Given the description of an element on the screen output the (x, y) to click on. 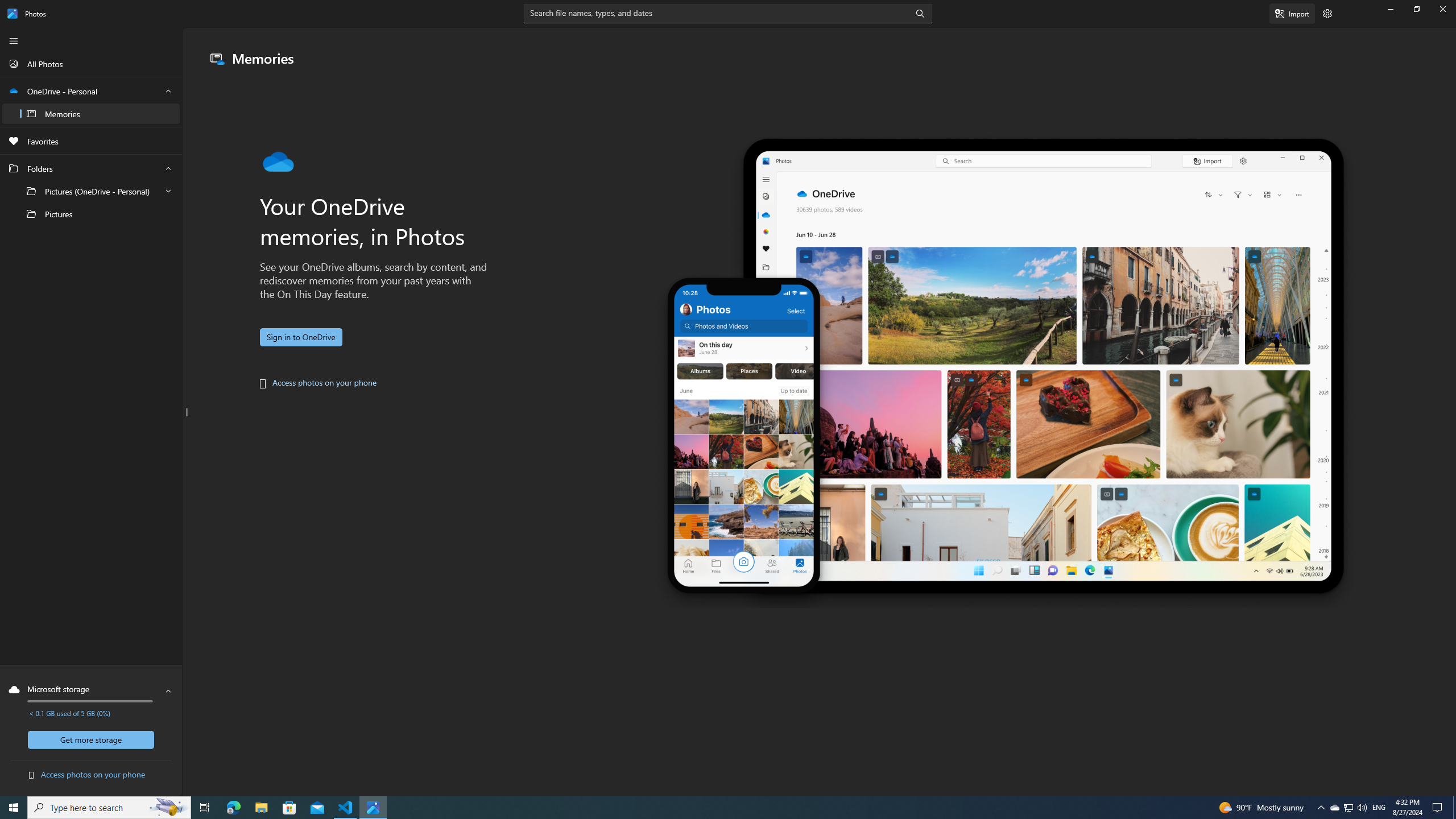
Q2790: 100% (1361, 807)
Type here to search (108, 807)
All Photos (90, 63)
Running applications (706, 807)
Search highlights icon opens search home window (167, 807)
Start (13, 807)
Sign in to OneDrive (301, 337)
Task View (204, 807)
Visual Studio Code - 1 running window (345, 807)
Memories (90, 113)
Close Photos (1442, 9)
Microsoft Store (289, 807)
Favorites (90, 141)
Restore Photos (1416, 9)
Settings (1327, 13)
